Given the description of an element on the screen output the (x, y) to click on. 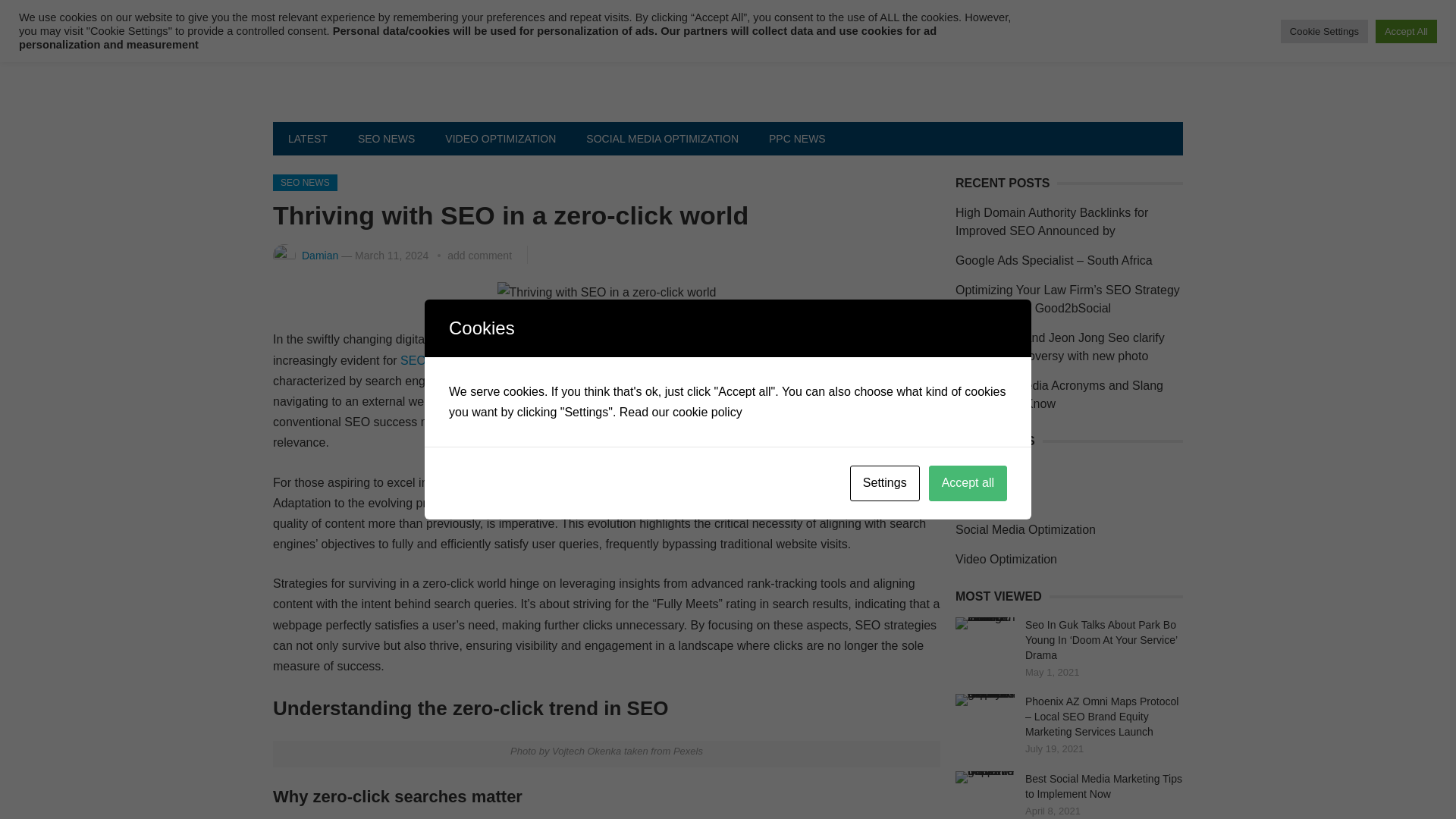
Advertisement (643, 15)
Best Social Media Marketing Tips to Implement Now (985, 776)
SEO (413, 359)
Posts by Damian (319, 255)
Disclaimer (553, 15)
add comment (479, 255)
SEO NEWS (305, 182)
View all posts in SEO News (305, 182)
Home (302, 15)
LATEST (307, 138)
Contact Us (373, 15)
Damian (319, 255)
Thriving with SEO in a zero-click world (606, 291)
Privacy Policy (464, 15)
Marketing - SEO (413, 359)
